Given the description of an element on the screen output the (x, y) to click on. 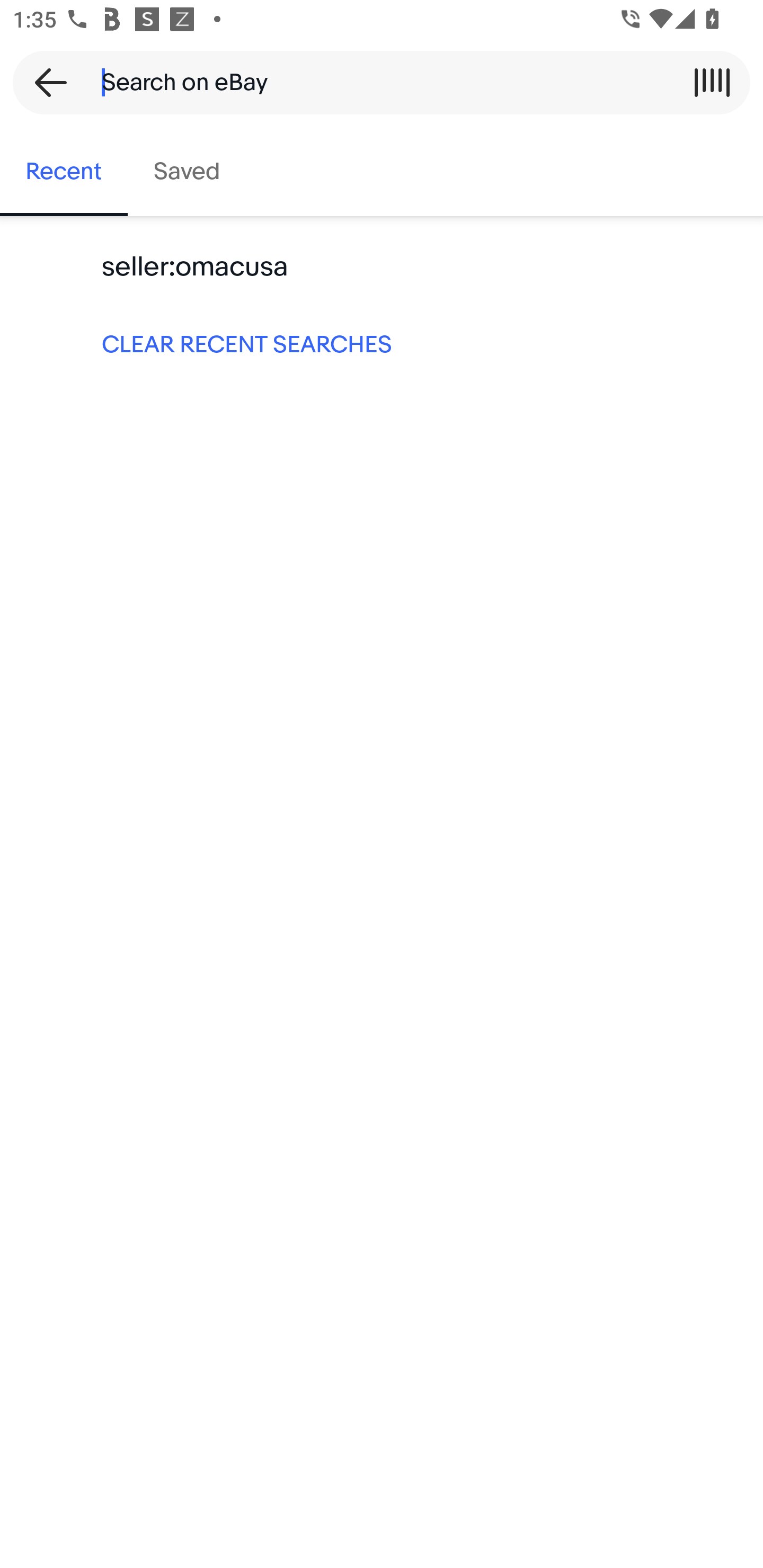
Back (44, 82)
Scan a barcode (711, 82)
Search on eBay (375, 82)
Saved, tab 2 of 2 Saved (186, 171)
seller:omacusa Keyword search seller:omacusa: (381, 266)
CLEAR RECENT SEARCHES (381, 343)
